Given the description of an element on the screen output the (x, y) to click on. 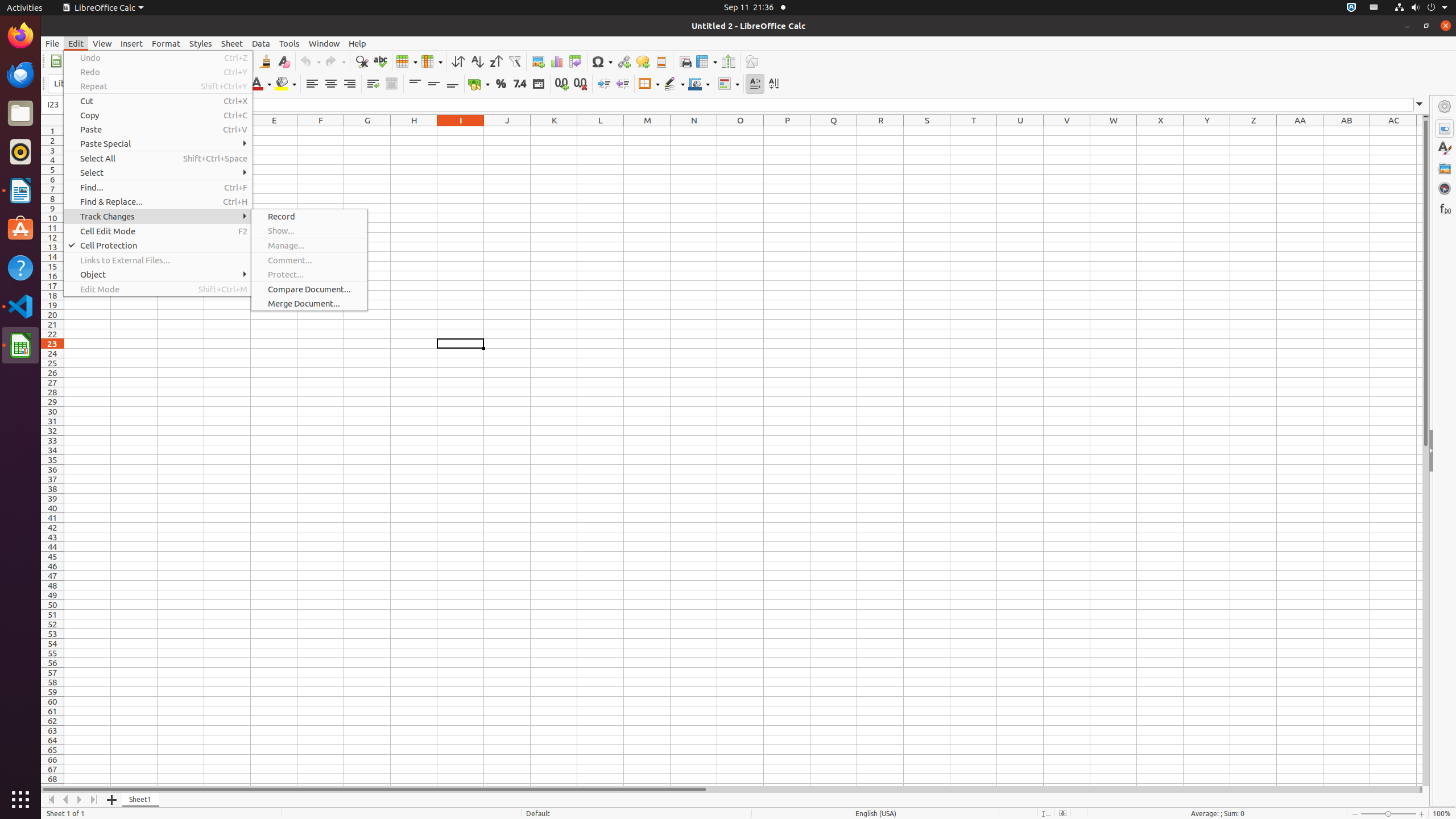
Show... Element type: menu-item (309, 230)
Expand Formula Bar Element type: push-button (1419, 104)
T1 Element type: table-cell (973, 130)
Object Element type: menu (157, 274)
